Given the description of an element on the screen output the (x, y) to click on. 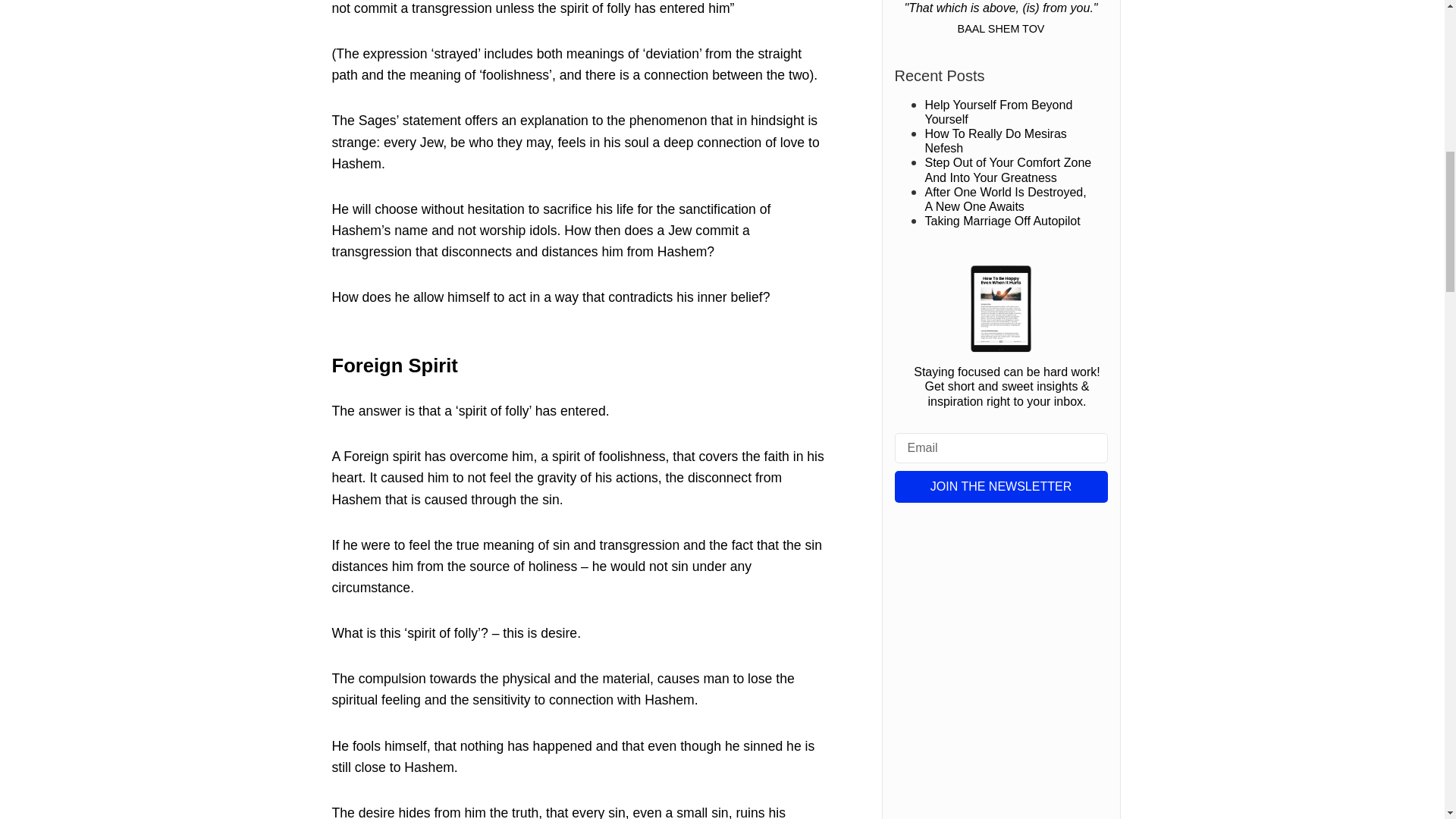
Help Yourself From Beyond Yourself (998, 112)
How To Really Do Mesiras Nefesh (995, 140)
Step Out of Your Comfort Zone And Into Your Greatness (1008, 169)
